Given the description of an element on the screen output the (x, y) to click on. 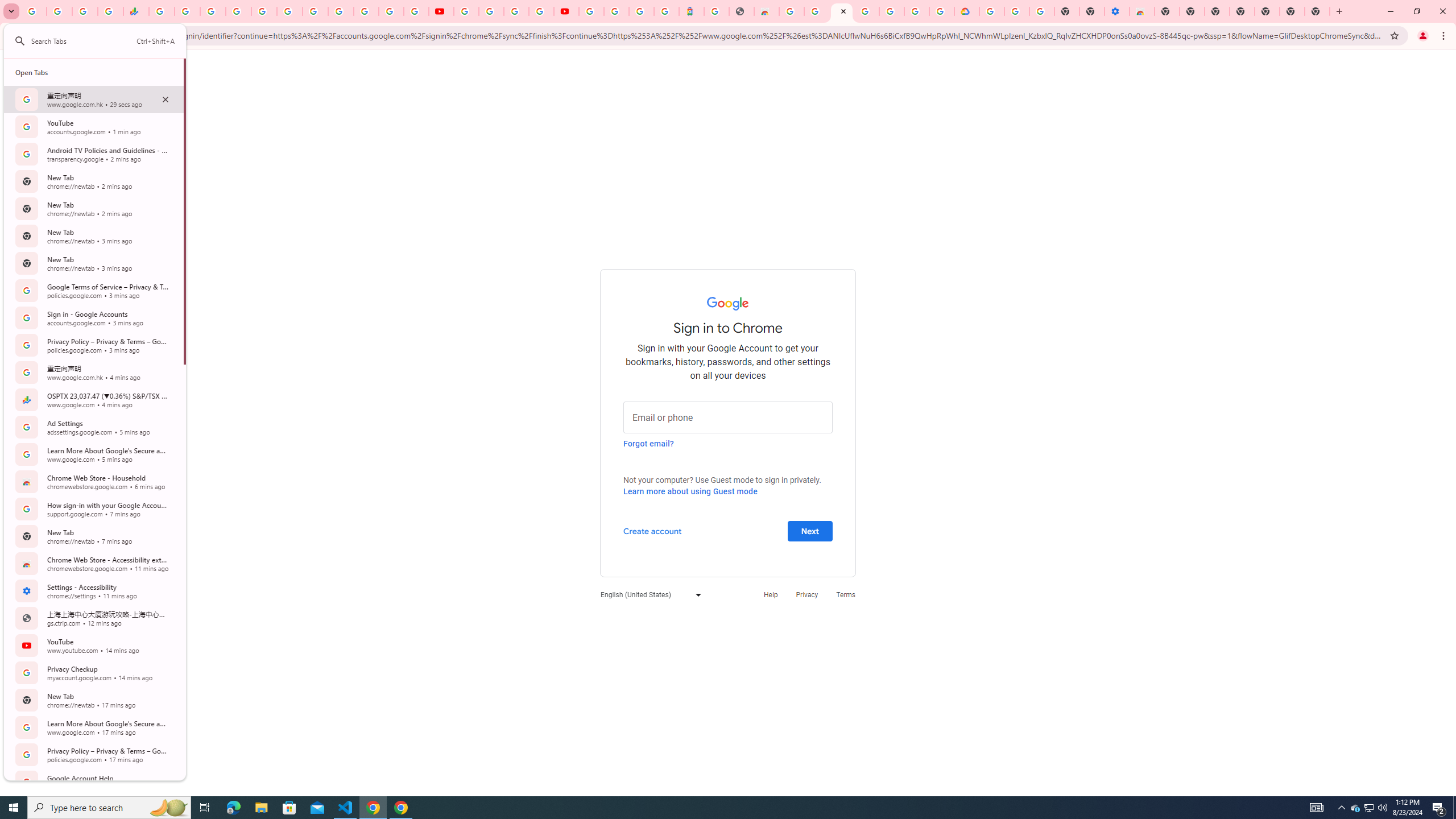
New Tab newtab 17 mins ago Open Tab (93, 700)
File Explorer (261, 807)
Q2790: 100% (1382, 807)
Sign in - Google Accounts (238, 11)
Google Account Help (491, 11)
YouTube (340, 11)
Ad Settings (816, 11)
Google Account Help (1016, 11)
Email or phone (727, 416)
Privacy Checkup myaccount.google.com 14 mins ago Open Tab (93, 672)
Search highlights icon opens search home window (167, 807)
